Given the description of an element on the screen output the (x, y) to click on. 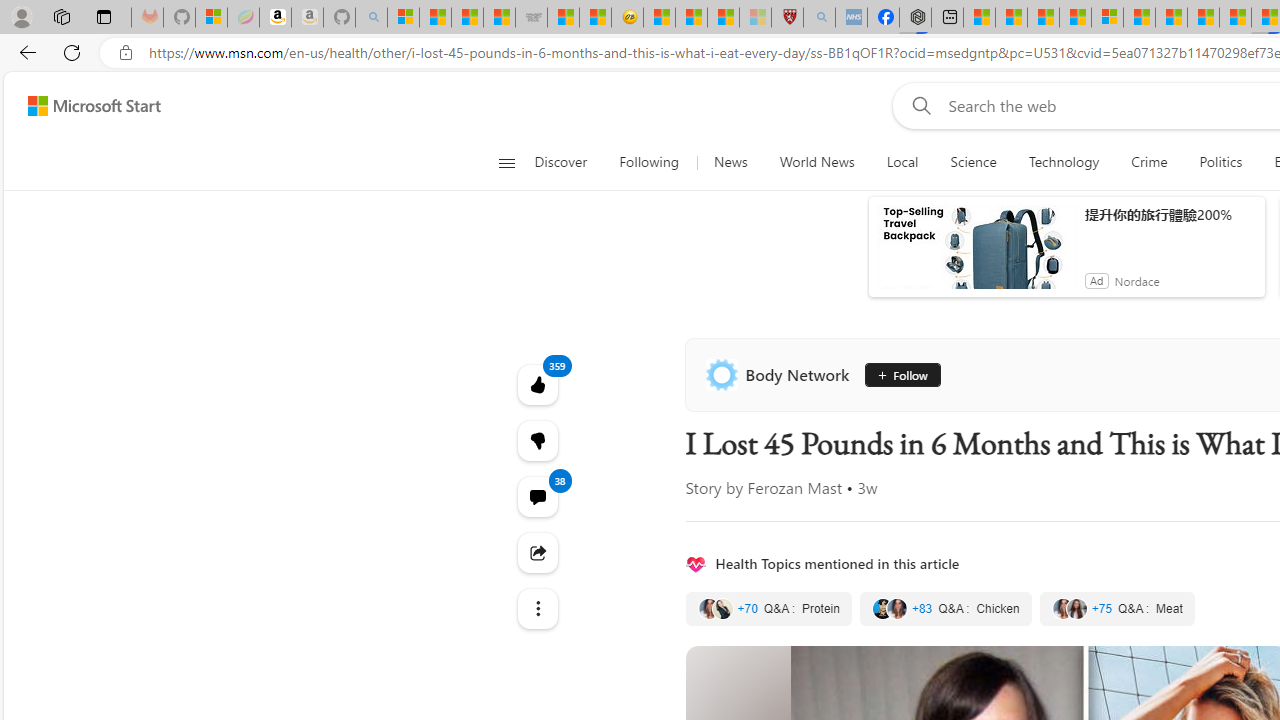
12 Popular Science Lies that Must be Corrected - Sleeping (754, 17)
Chicken (944, 608)
